Given the description of an element on the screen output the (x, y) to click on. 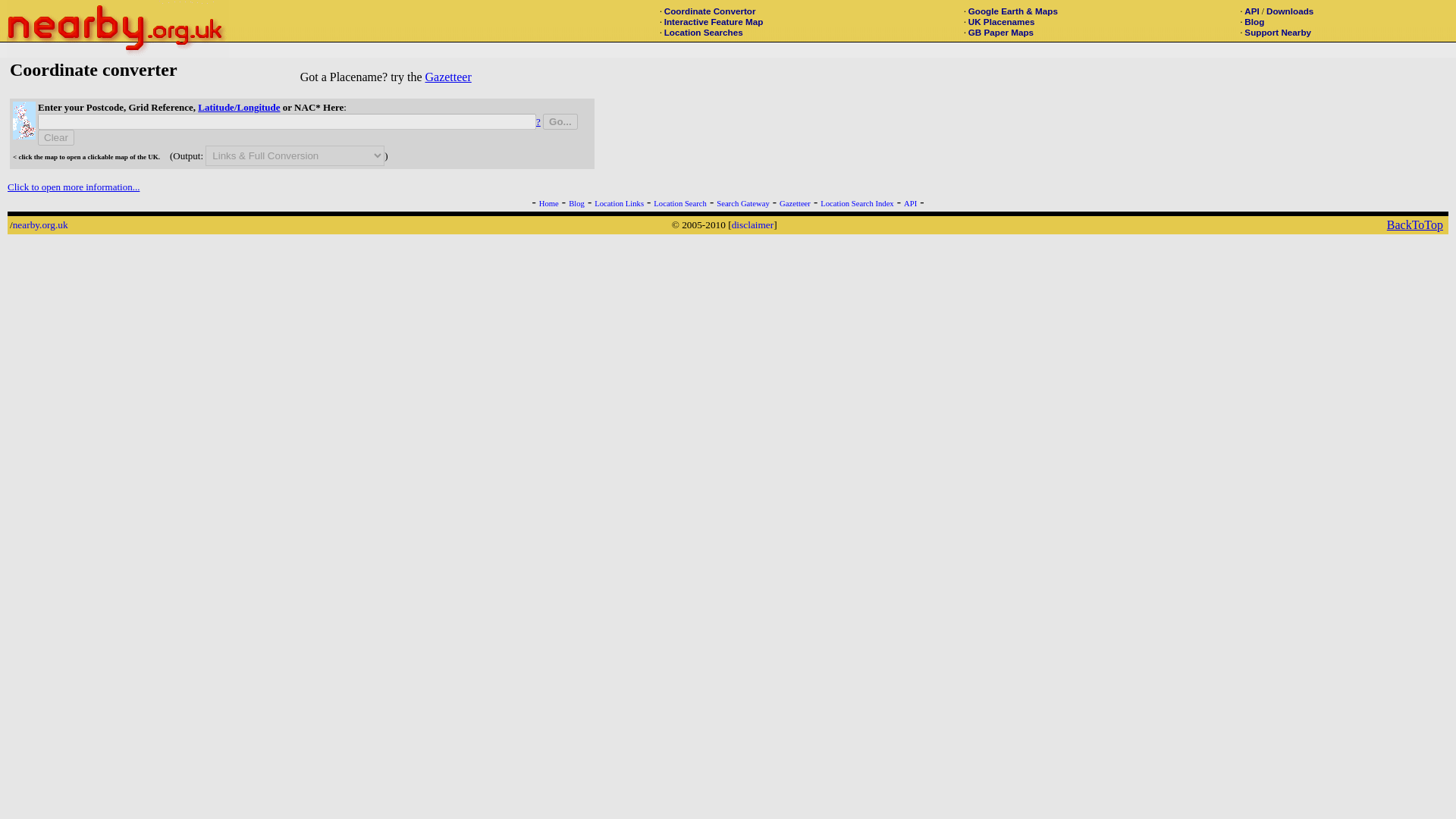
API (1251, 10)
Search Gateway (743, 203)
UK Placenames (1001, 21)
Gazetteer (447, 76)
Gazetteer (794, 203)
Coordinate Convertor (709, 10)
Go... (560, 121)
Interactive Feature Map (712, 21)
Blog (1253, 21)
Blog (577, 203)
Click to open more information... (73, 186)
Location Searches (702, 31)
GB Feature Map (712, 21)
Location Search Index (857, 203)
GB Paper Maps (1000, 31)
